Given the description of an element on the screen output the (x, y) to click on. 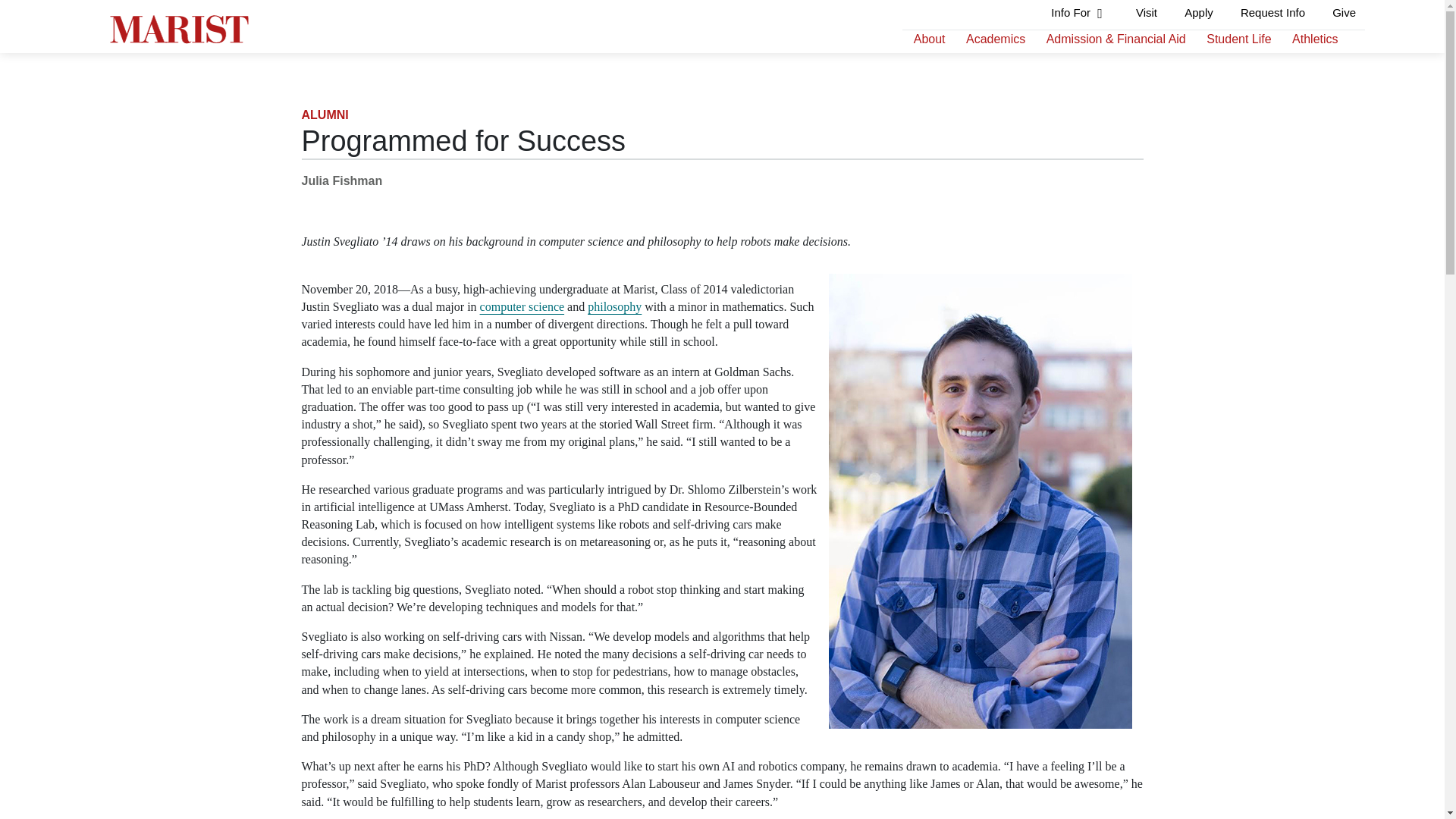
Skip to Main Content (5, 5)
